Given the description of an element on the screen output the (x, y) to click on. 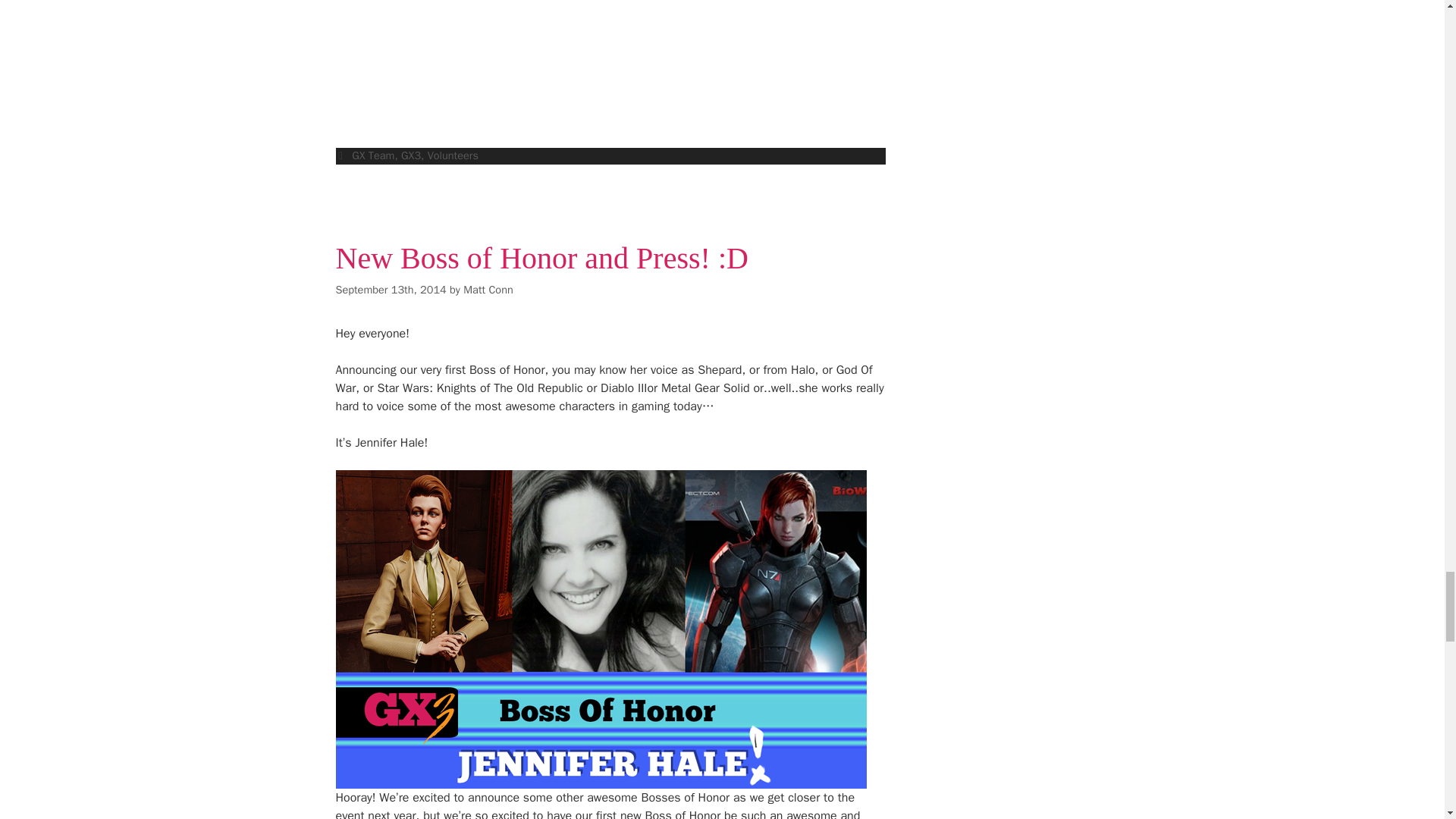
View all posts by Matt Conn (487, 289)
